Given the description of an element on the screen output the (x, y) to click on. 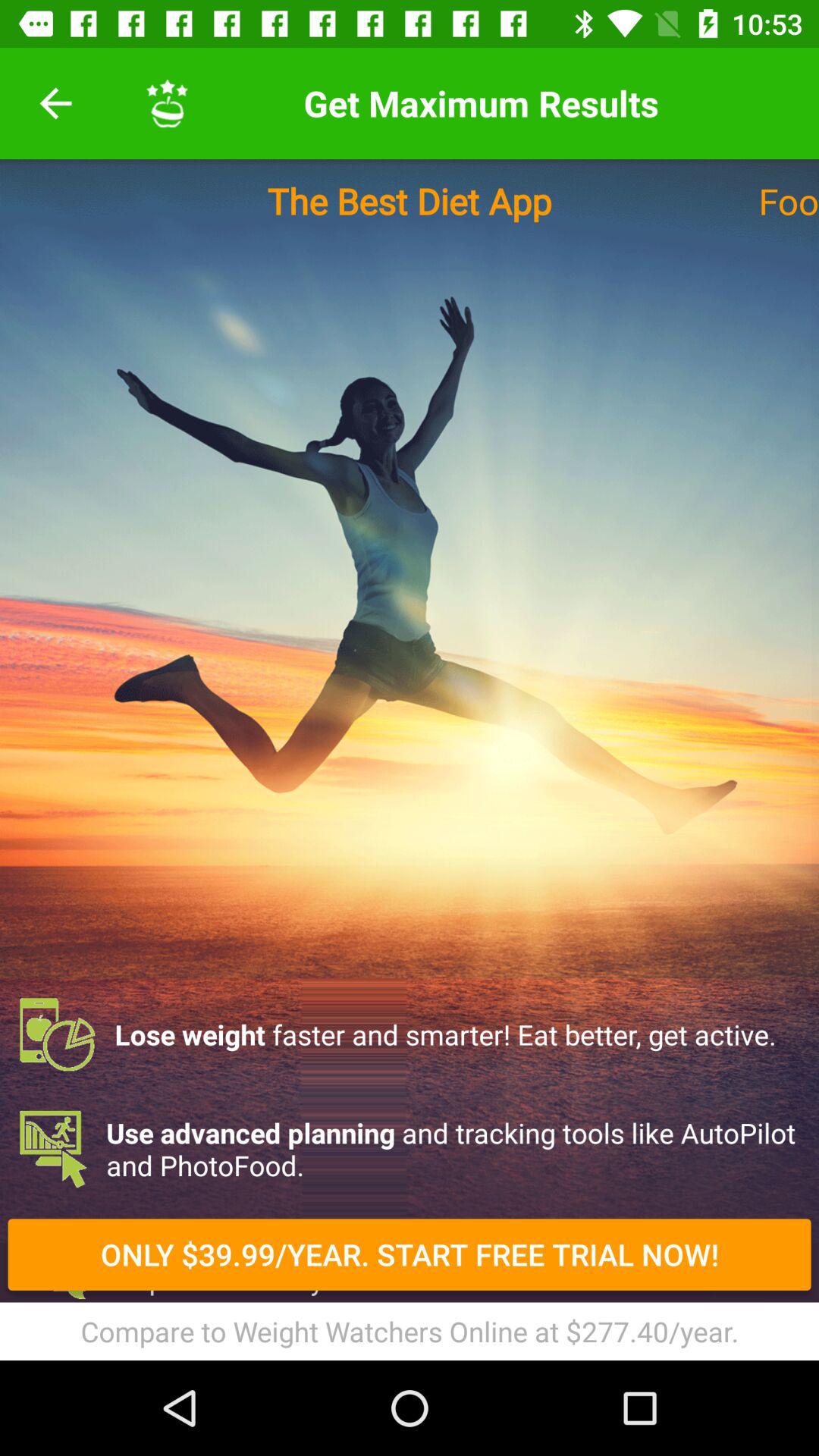
turn off item above use advanced planning (409, 1034)
